Given the description of an element on the screen output the (x, y) to click on. 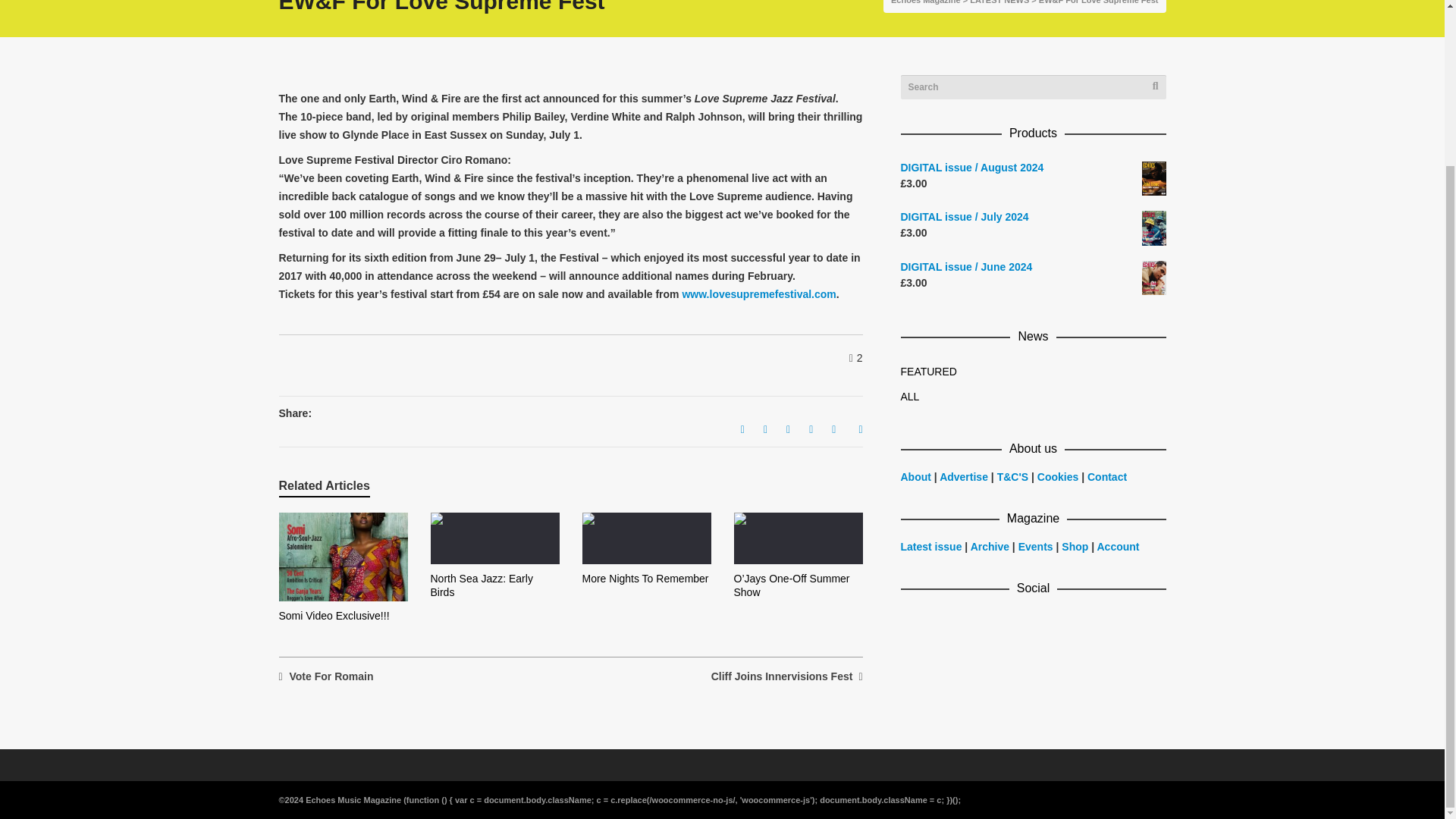
Permanent Link to North Sea Jazz: Early Birds (481, 585)
Contact (1106, 476)
Permanent Link to Somi Video Exclusive!!! (334, 615)
Archive (990, 546)
Go to the LATEST NEWS Category archives. (999, 2)
Go to Echoes Magazine. (925, 2)
Permanent Link to More Nights To Remember (645, 578)
Advertise (965, 476)
Shop (1074, 546)
Latest issue of the magazine (931, 546)
